Given the description of an element on the screen output the (x, y) to click on. 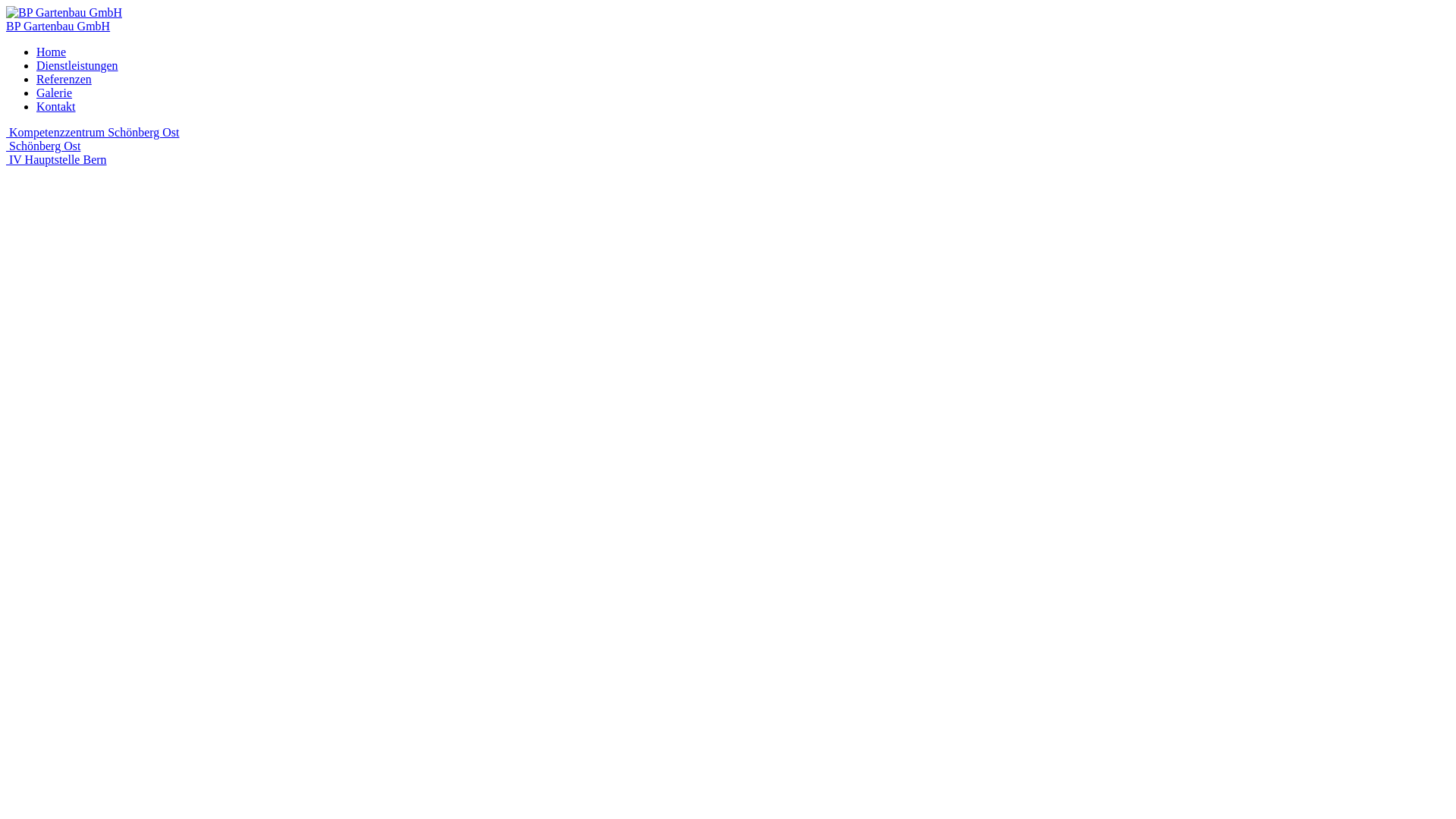
IV Hauptstelle Bern Element type: text (56, 159)
Home Element type: text (50, 51)
Galerie Element type: text (54, 92)
Kontakt Element type: text (55, 106)
Dienstleistungen Element type: text (77, 65)
Referenzen Element type: text (63, 78)
BP Gartenbau GmbH Element type: text (57, 25)
